Given the description of an element on the screen output the (x, y) to click on. 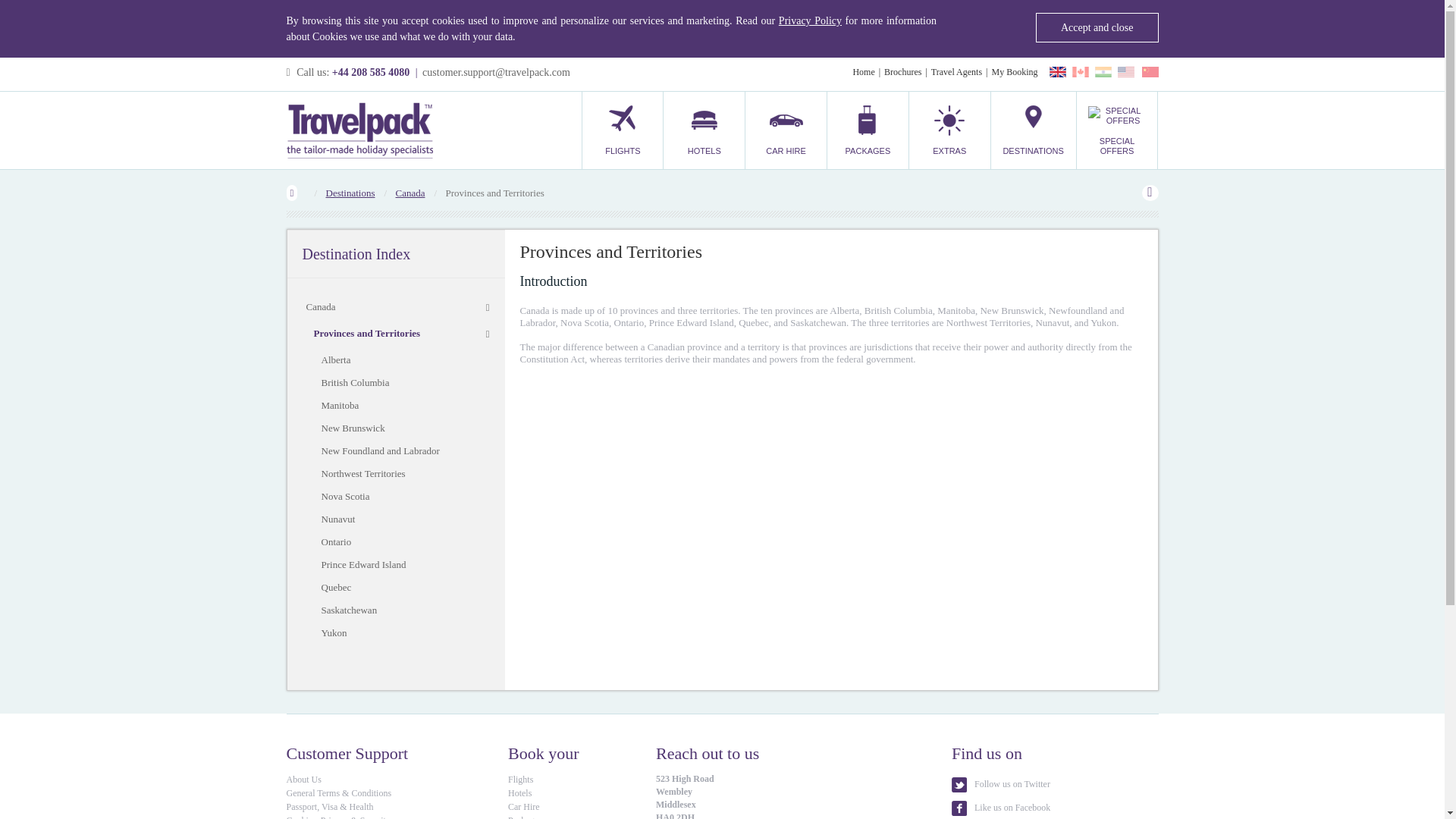
CAR HIRE (786, 129)
PACKAGES (867, 129)
Home (863, 71)
Travel Agents (956, 71)
DESTINATIONS (1033, 129)
My Booking (1013, 71)
Home (863, 71)
FLIGHTS (622, 129)
Car Hire (786, 129)
Packages (867, 129)
My Booking (1013, 71)
HOTELS (703, 129)
Travelpack (359, 130)
Mail (496, 71)
Accept and close (1096, 27)
